Given the description of an element on the screen output the (x, y) to click on. 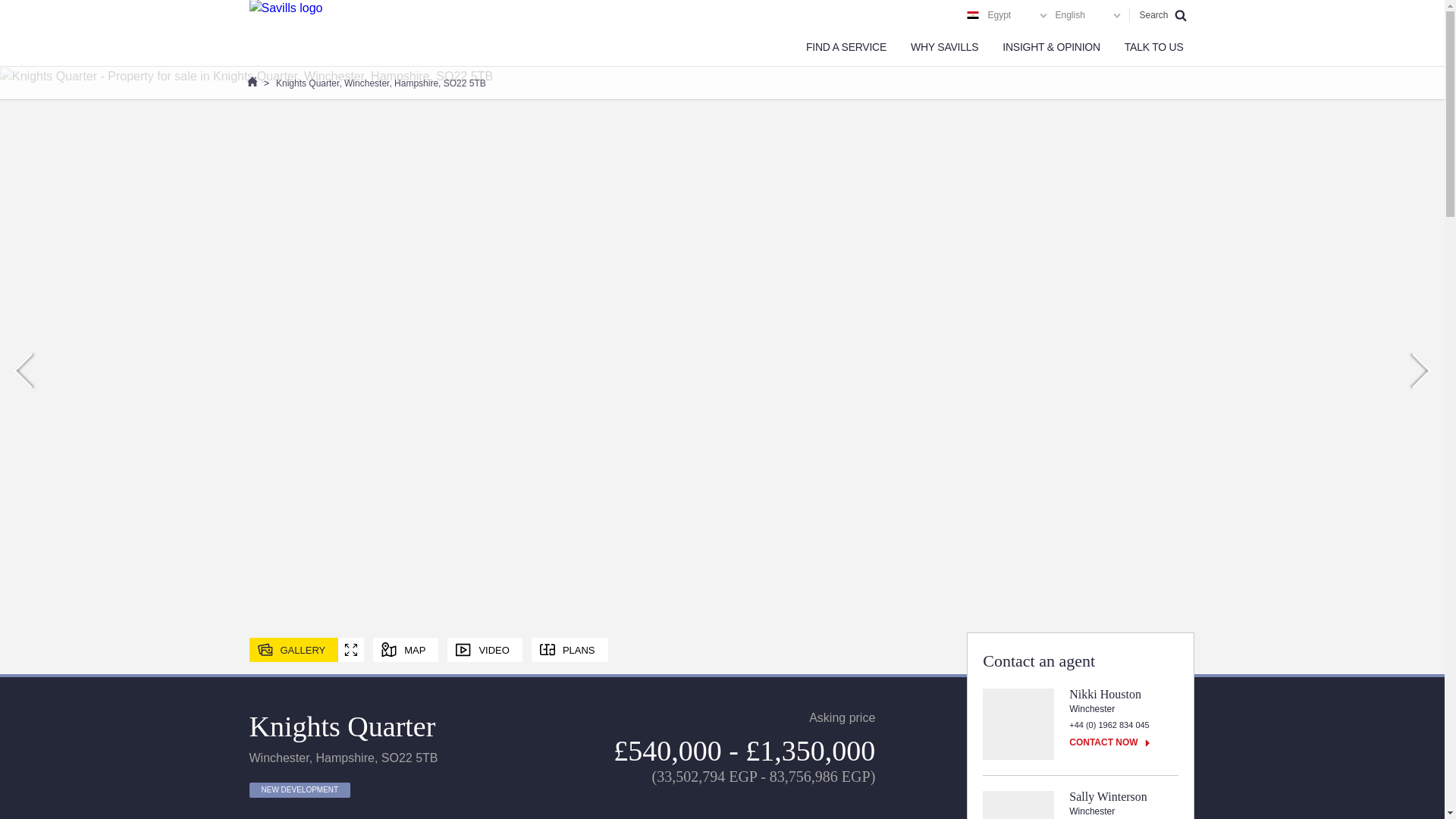
Go to homepage (284, 33)
FIND A SERVICE (845, 46)
Search (1162, 14)
